Given the description of an element on the screen output the (x, y) to click on. 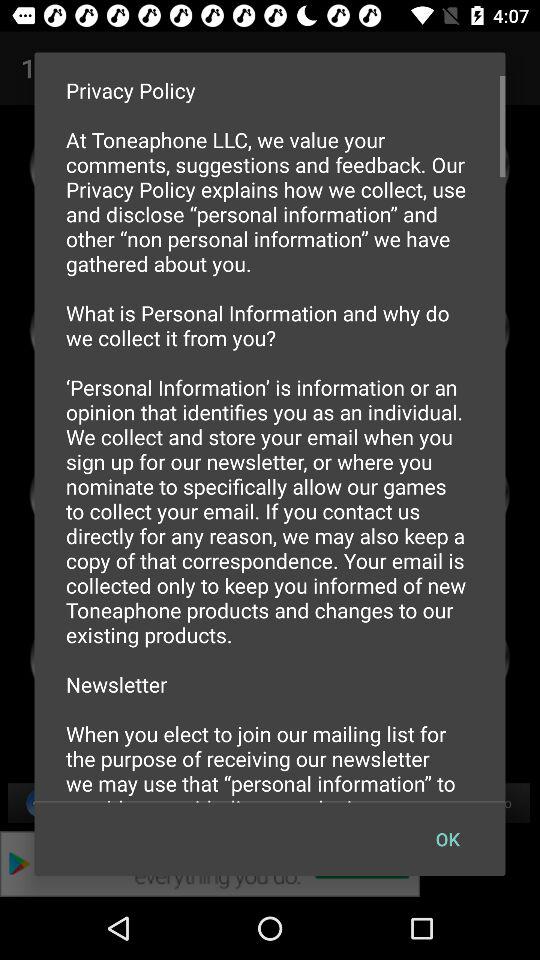
open the ok item (447, 838)
